Given the description of an element on the screen output the (x, y) to click on. 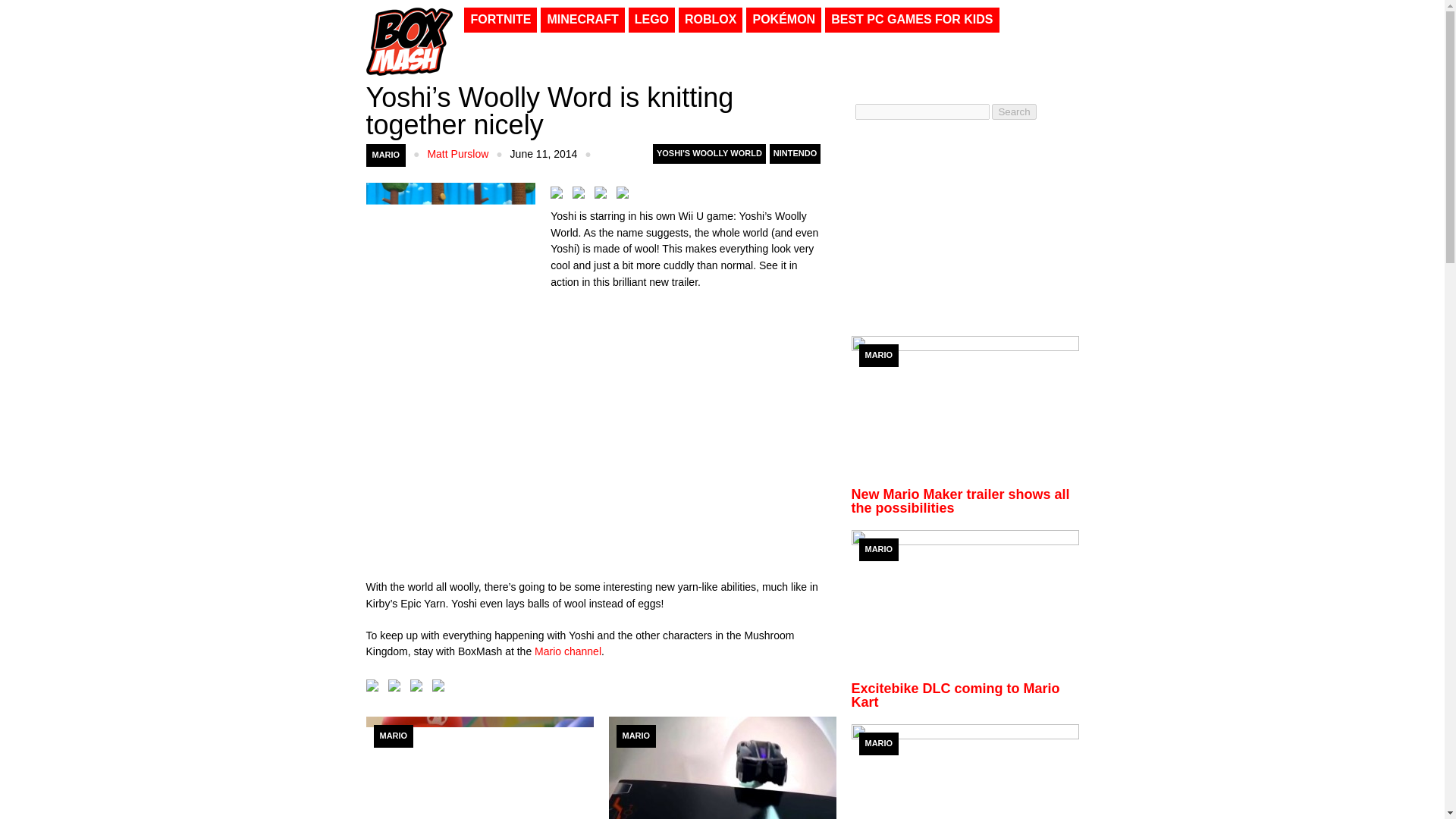
MARIO (392, 735)
ROBLOX (710, 19)
menu-item-7426 (911, 19)
Search (1013, 111)
Share on Facebook (559, 195)
BoxMash (408, 40)
LEGO (651, 19)
NINTENDO (795, 153)
BEST PC GAMES FOR KIDS (911, 19)
menu-item-16 (651, 19)
Mario channel (567, 651)
menu-item-18 (582, 19)
Posts by Matt Purslow (456, 153)
FORTNITE (500, 19)
menu-item-9037 (783, 19)
